Given the description of an element on the screen output the (x, y) to click on. 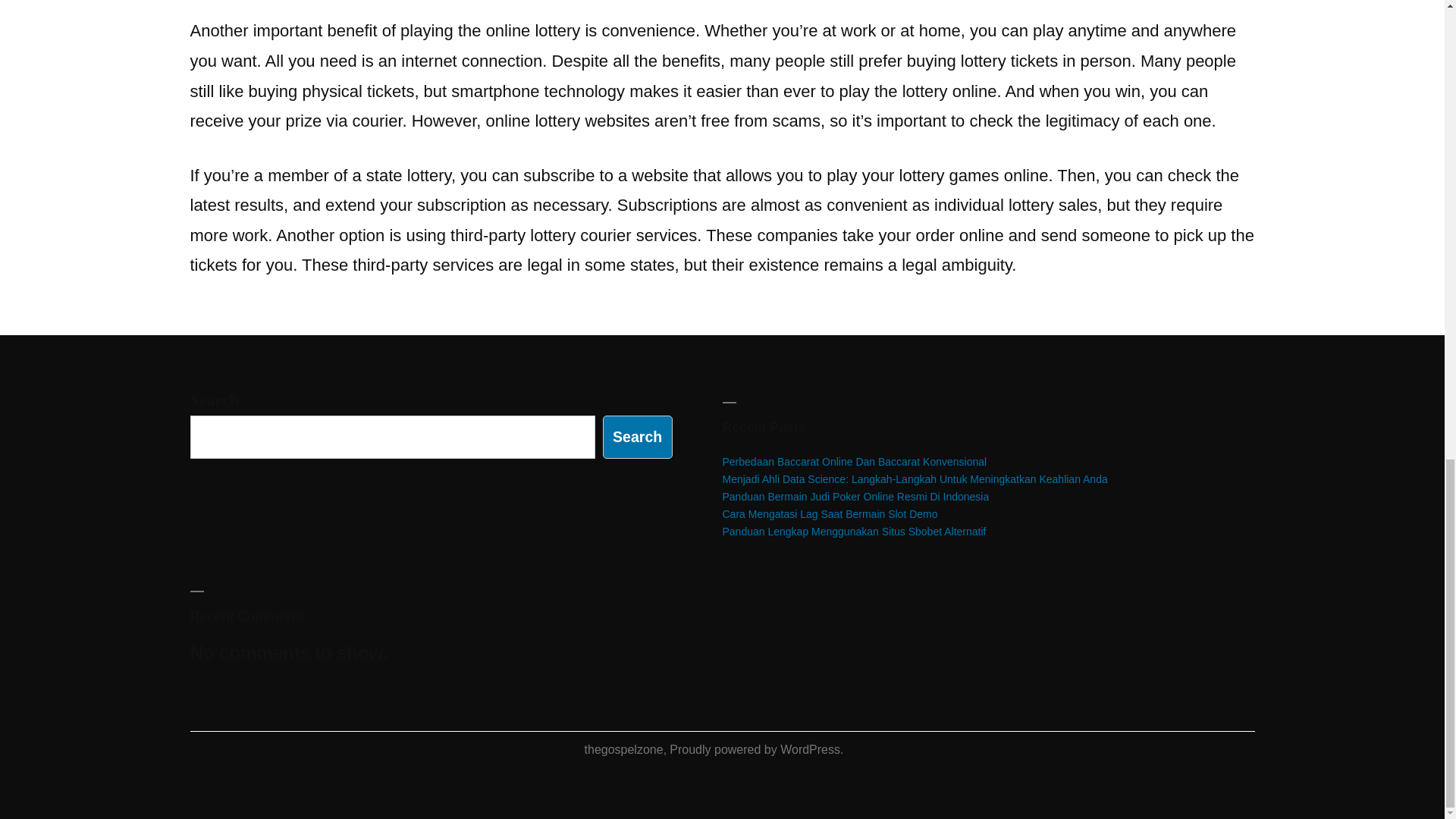
Search (637, 436)
Panduan Bermain Judi Poker Online Resmi Di Indonesia (855, 496)
Panduan Lengkap Menggunakan Situs Sbobet Alternatif (853, 531)
Perbedaan Baccarat Online Dan Baccarat Konvensional (854, 461)
Cara Mengatasi Lag Saat Bermain Slot Demo (829, 513)
thegospelzone (624, 748)
Proudly powered by WordPress. (756, 748)
